Given the description of an element on the screen output the (x, y) to click on. 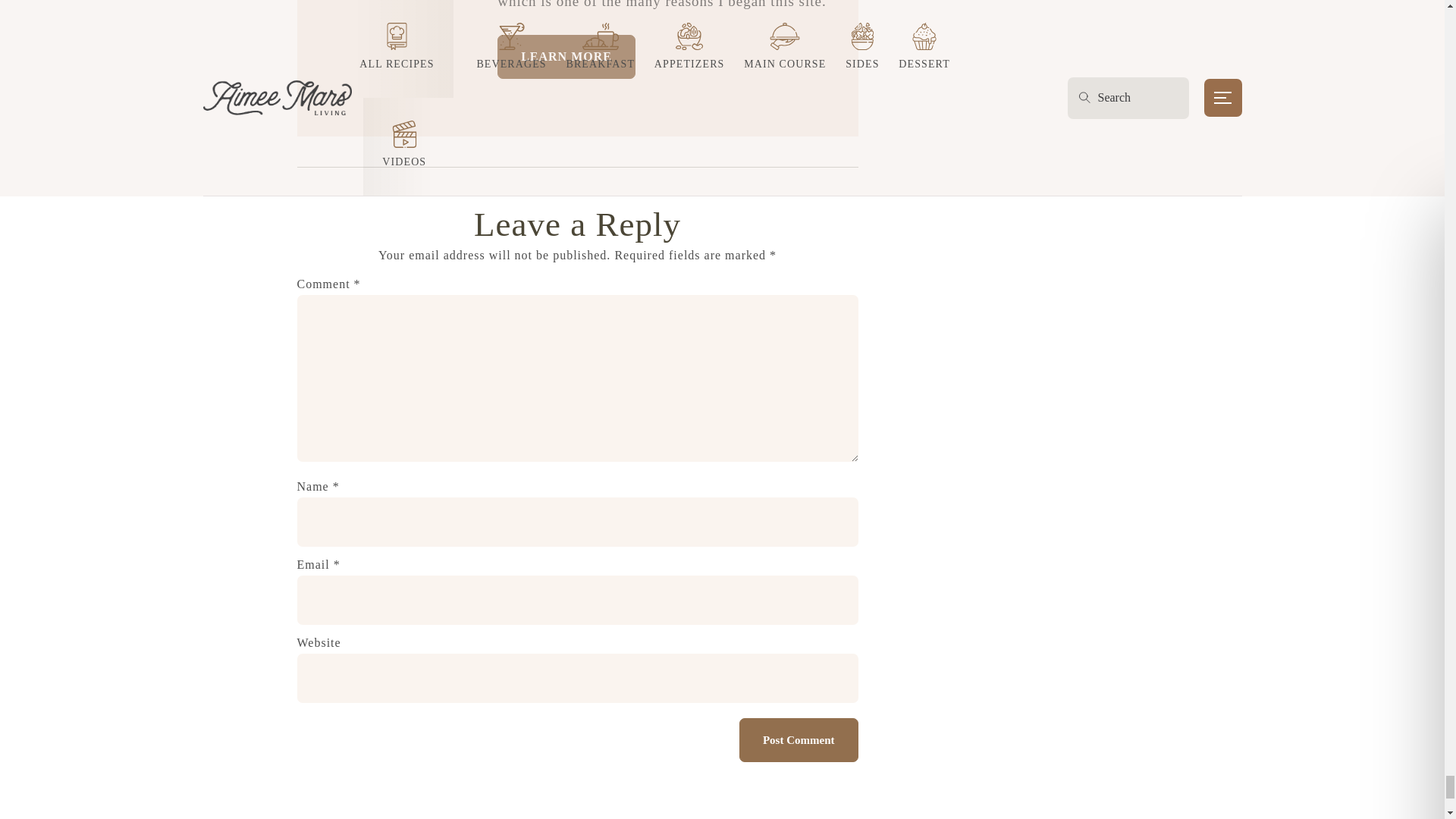
Post Comment (799, 740)
